Given the description of an element on the screen output the (x, y) to click on. 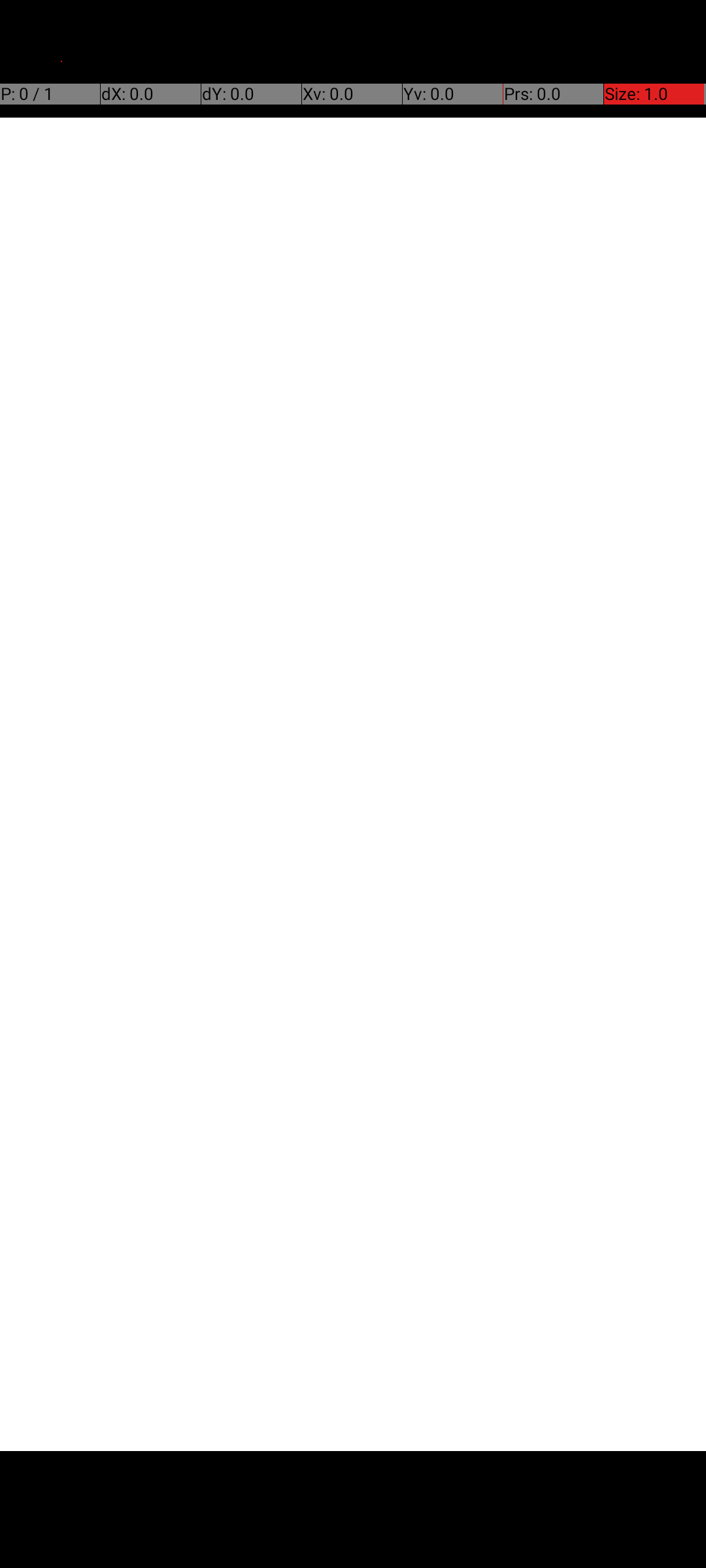
Video player. Tap to show controls. Tap the back button to hide them Element type: android.widget.FrameLayout (353, 784)
